Given the description of an element on the screen output the (x, y) to click on. 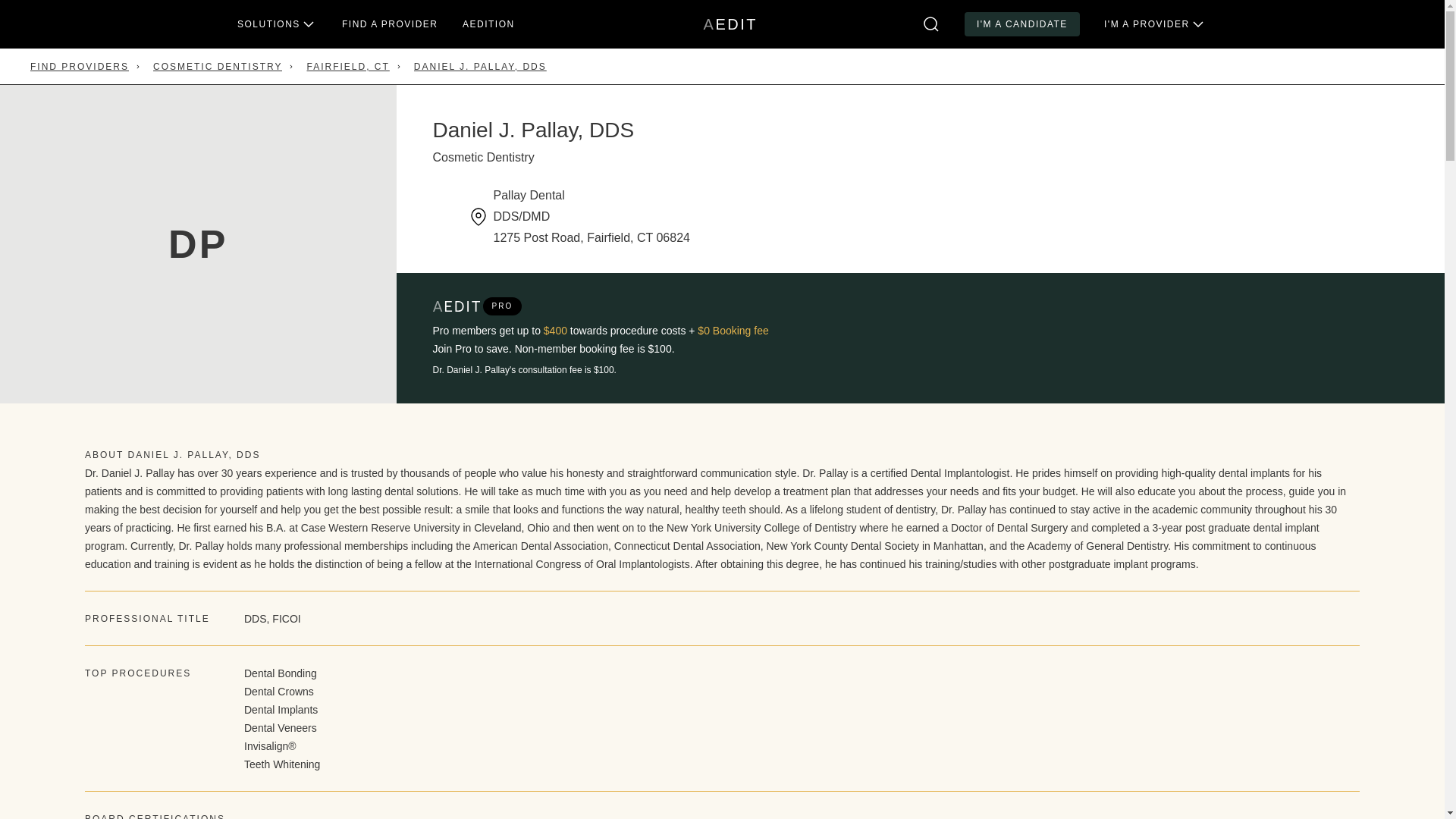
FIND A PROVIDER (730, 24)
FAIRFIELD, CT (390, 24)
COSMETIC DENTISTRY (346, 66)
FIND PROVIDERS (217, 66)
I'M A CANDIDATE (79, 66)
AEDITION (1021, 24)
